Given the description of an element on the screen output the (x, y) to click on. 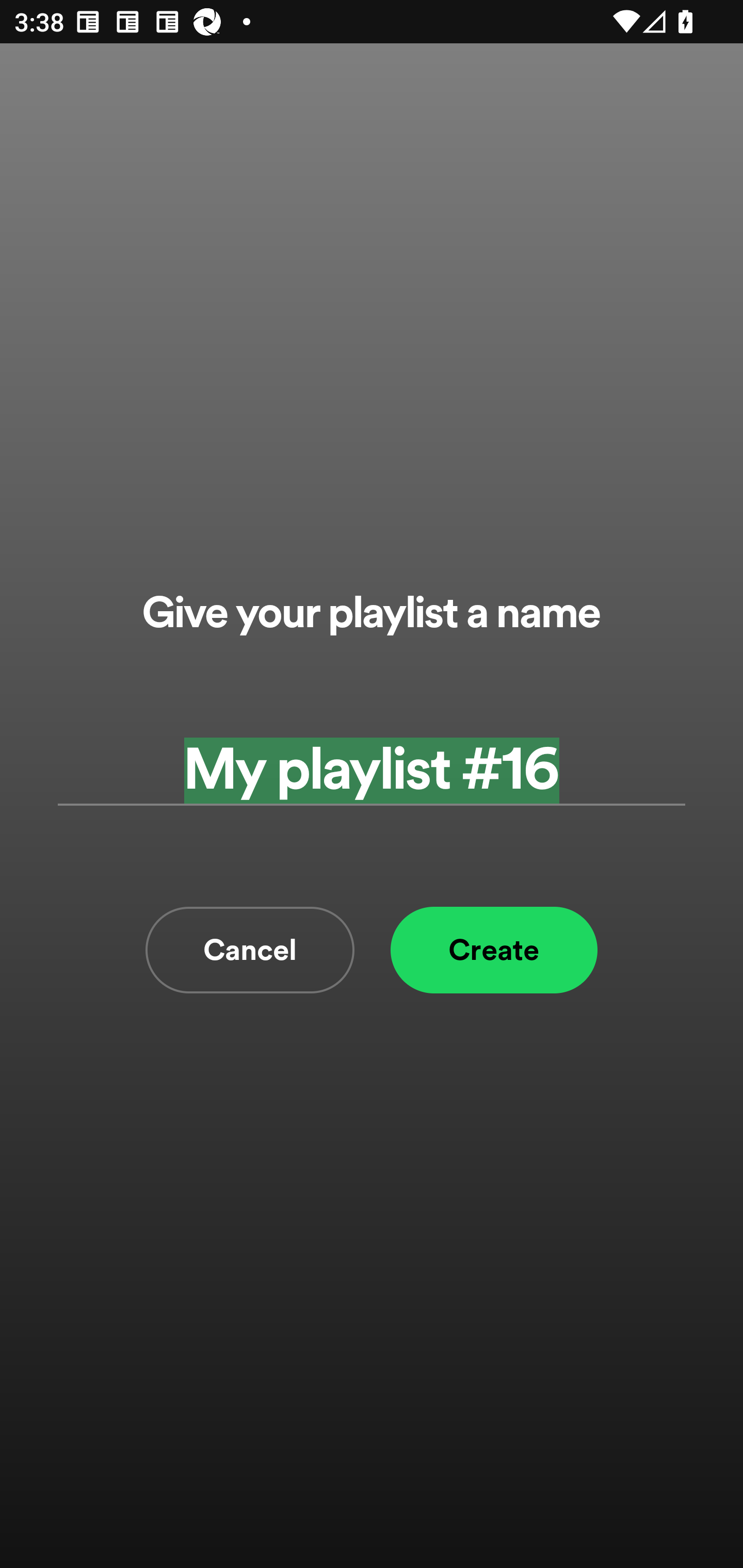
My playlist #16 Add a playlist name (371, 769)
Cancel (249, 950)
Create (493, 950)
